Given the description of an element on the screen output the (x, y) to click on. 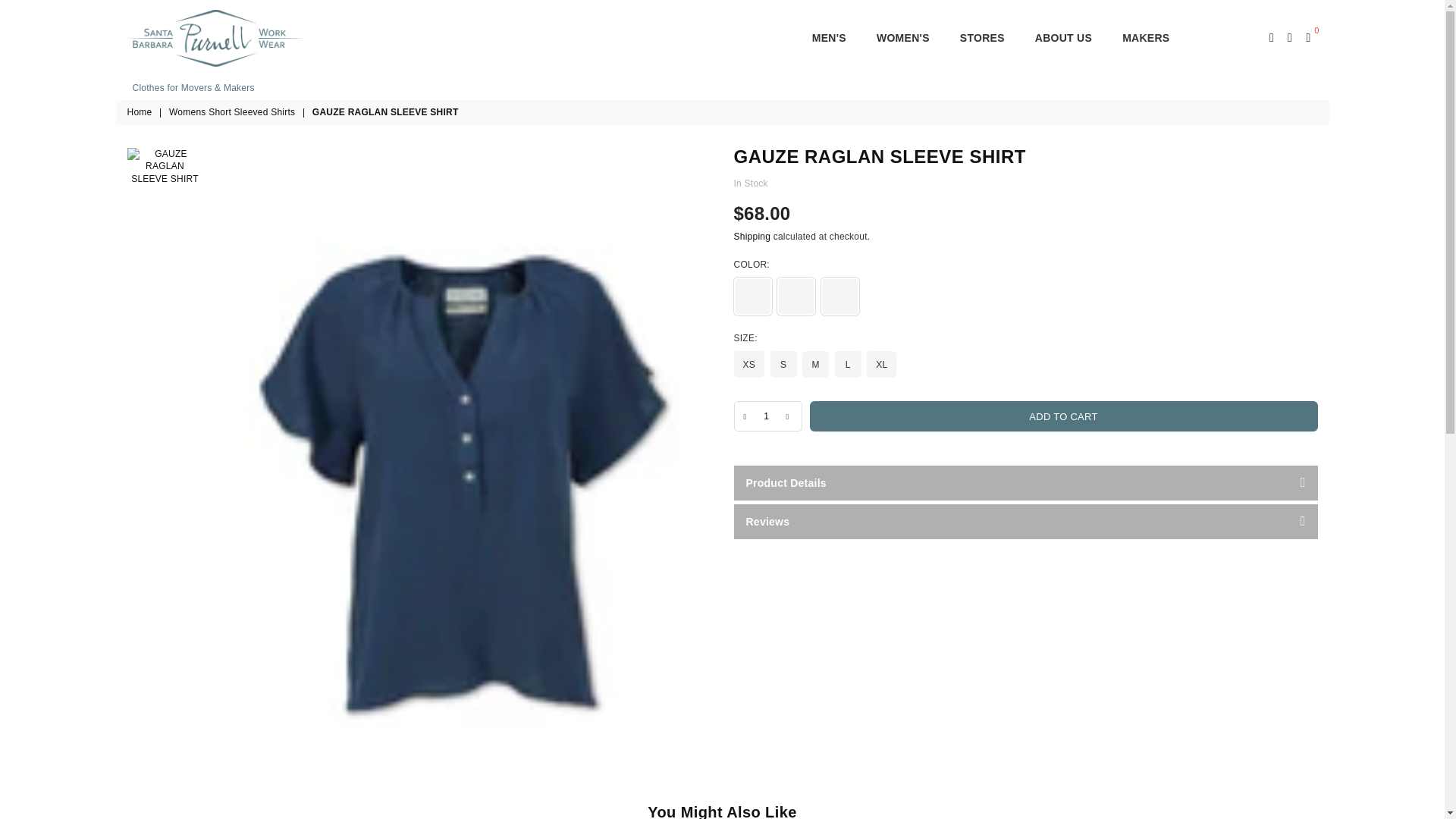
MEN'S (828, 37)
Back to the home page (141, 112)
Purnell (233, 37)
MAKERS (1145, 37)
STORES (982, 37)
Quantity (767, 416)
ABOUT US (1063, 37)
WOMEN'S (902, 37)
